Given the description of an element on the screen output the (x, y) to click on. 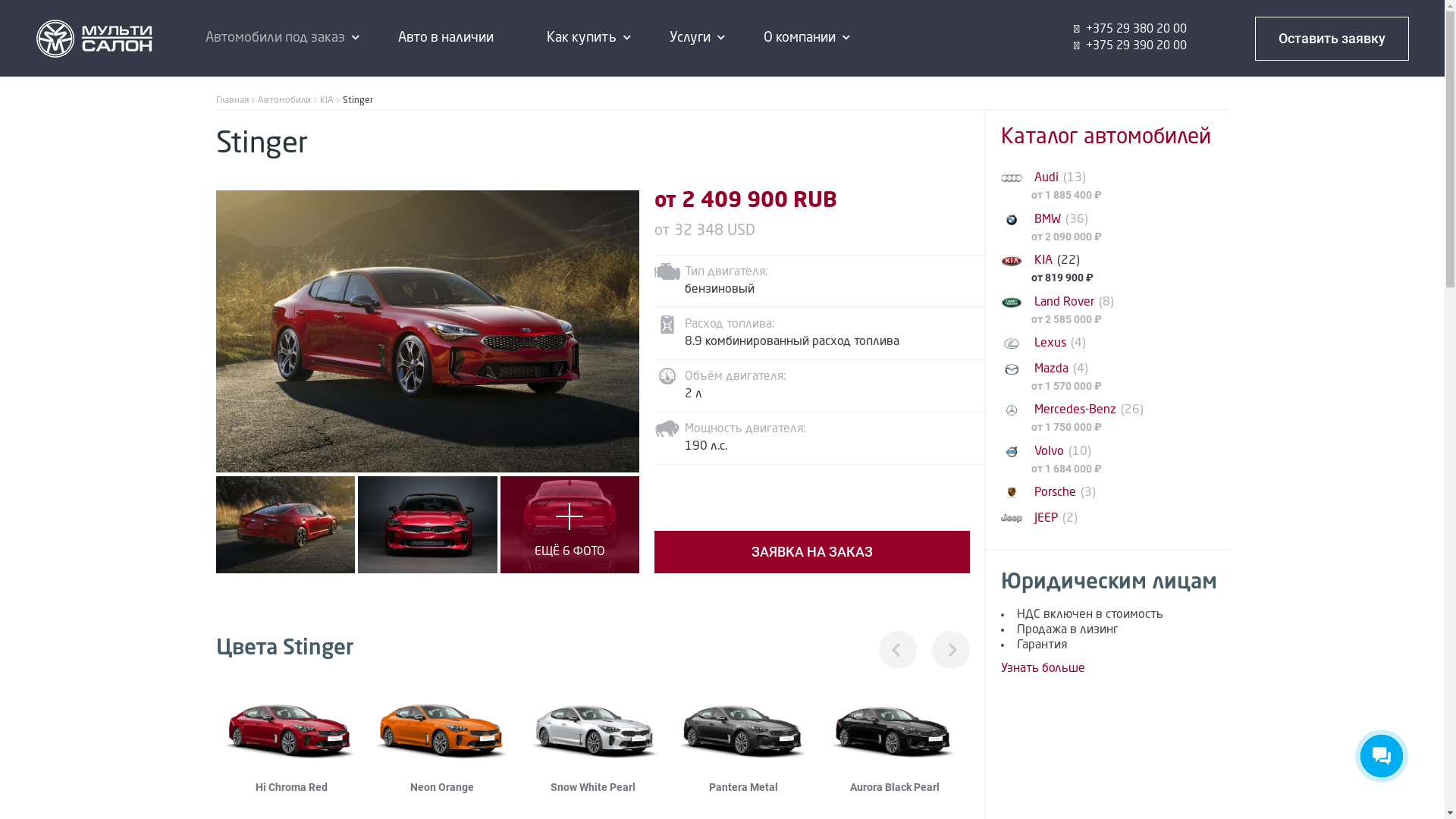
Lexus (4) Element type: text (1114, 343)
Hi Chroma Red Element type: text (291, 740)
Aurora Black Pearl Element type: text (894, 740)
Pantera Metal Element type: text (743, 740)
Neon Orange Element type: text (442, 740)
Snow White Pearl Element type: text (592, 740)
KIA Element type: text (329, 100)
JEEP (2) Element type: text (1114, 518)
Porsche (3) Element type: text (1114, 492)
